Given the description of an element on the screen output the (x, y) to click on. 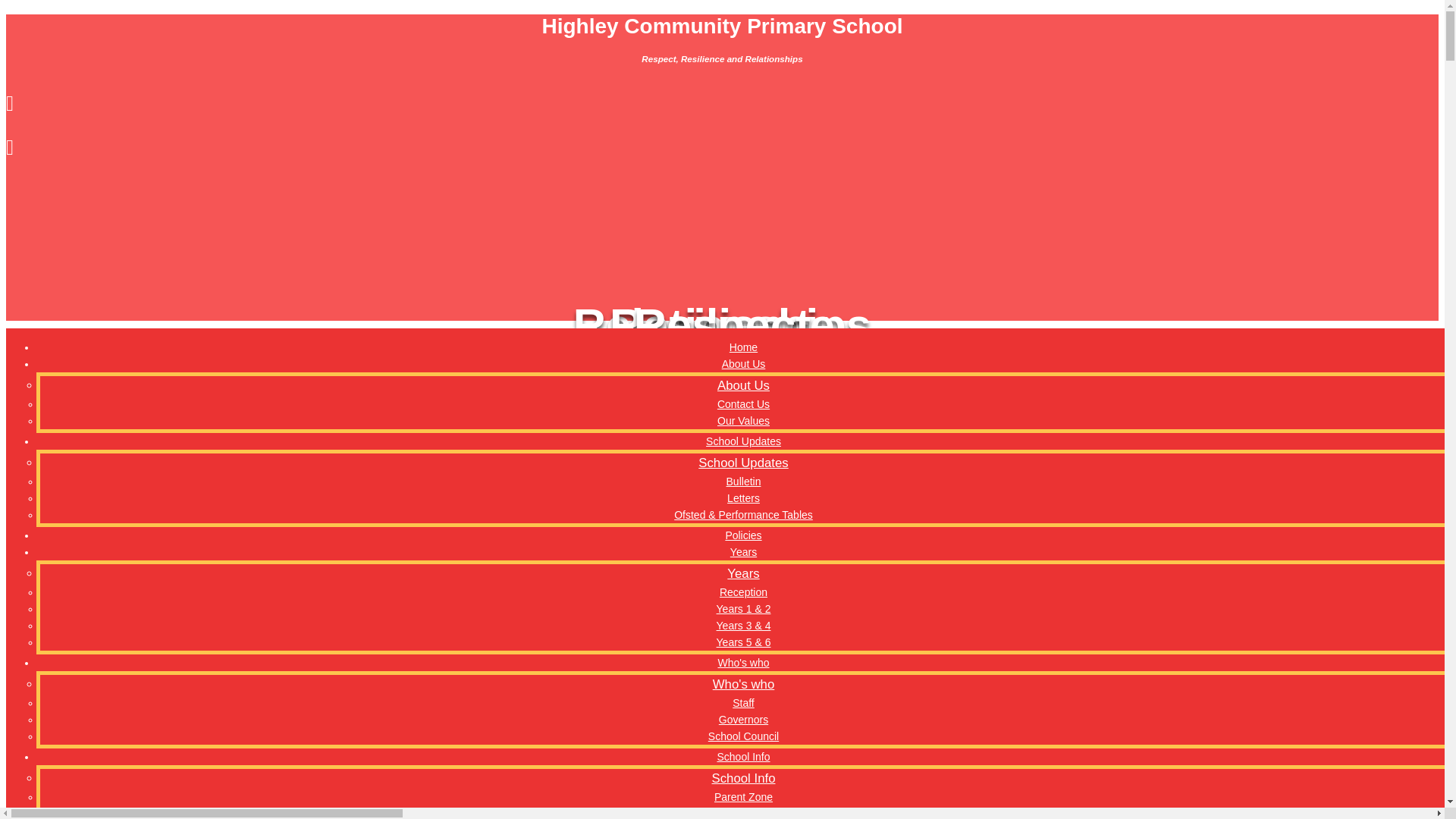
School Updates (743, 441)
School Info (743, 778)
Years (743, 573)
Contact Us (743, 403)
School Council (743, 736)
Governors (743, 719)
Our Values (743, 420)
Parent Zone (743, 796)
Who's who (743, 684)
Years (743, 551)
